Given the description of an element on the screen output the (x, y) to click on. 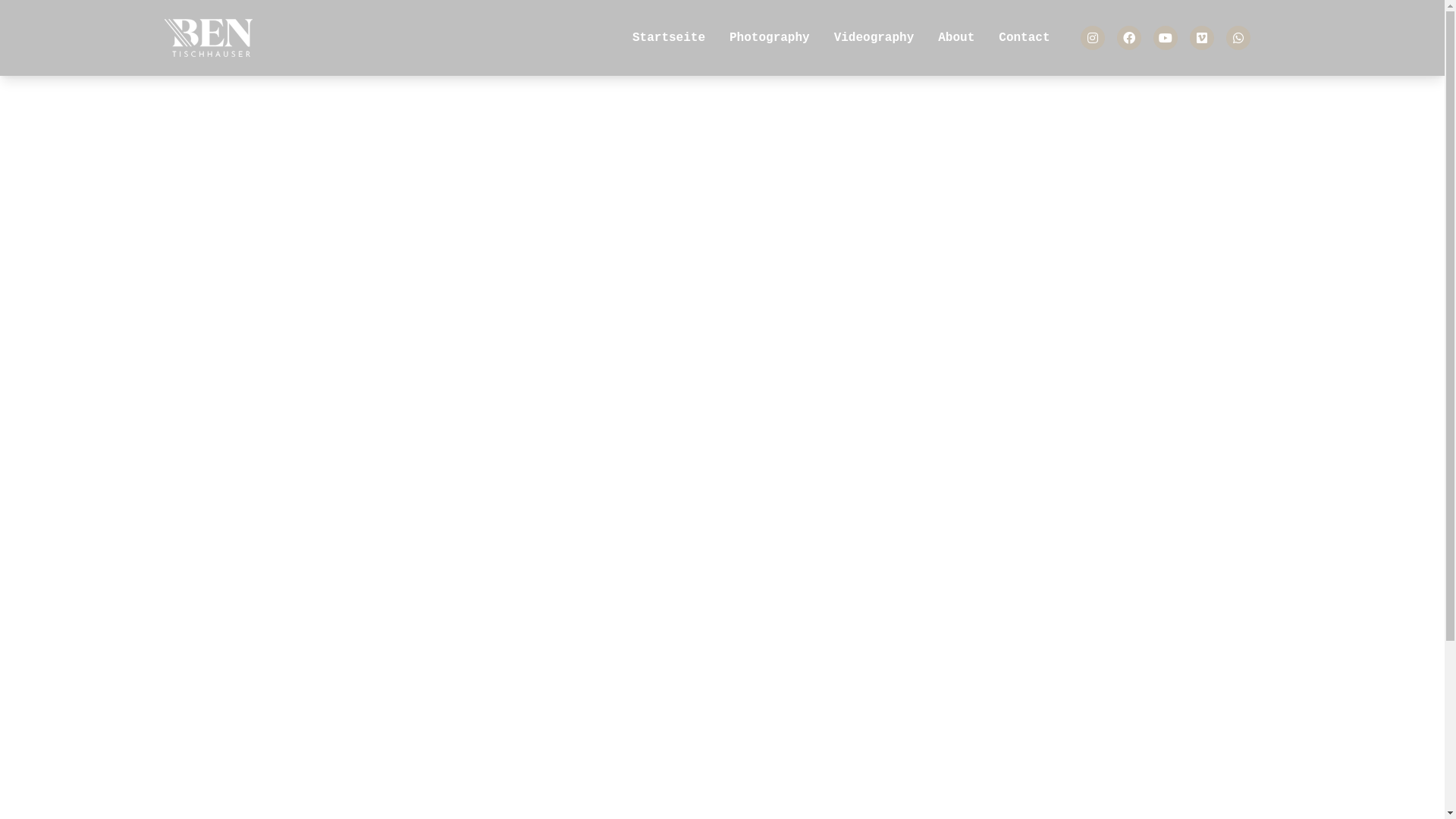
Photography Element type: text (769, 37)
Startseite Element type: text (668, 37)
Contact Element type: text (1023, 37)
About Element type: text (956, 37)
Youtube Element type: hover (1164, 37)
Videography Element type: text (874, 37)
WhatsApp Element type: hover (1237, 37)
Vimeo Element type: hover (1201, 37)
Instagram Element type: hover (1091, 37)
Facebook Element type: hover (1128, 37)
